Given the description of an element on the screen output the (x, y) to click on. 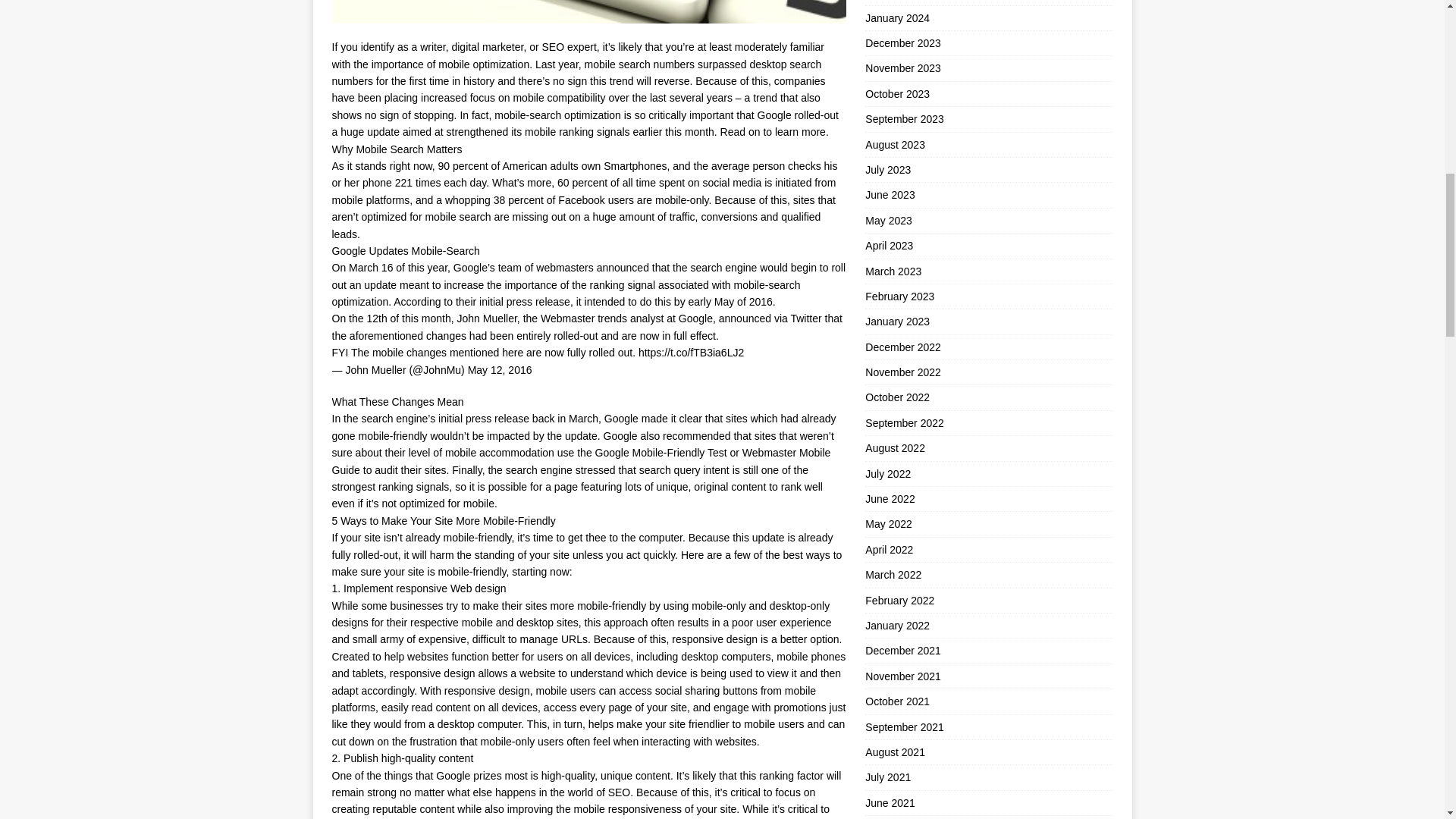
SEO-news-18 (588, 11)
November 2023 (988, 68)
January 2024 (988, 17)
February 2024 (988, 2)
December 2023 (988, 43)
July 2023 (988, 169)
October 2023 (988, 93)
August 2023 (988, 144)
September 2023 (988, 119)
June 2023 (988, 194)
